Given the description of an element on the screen output the (x, y) to click on. 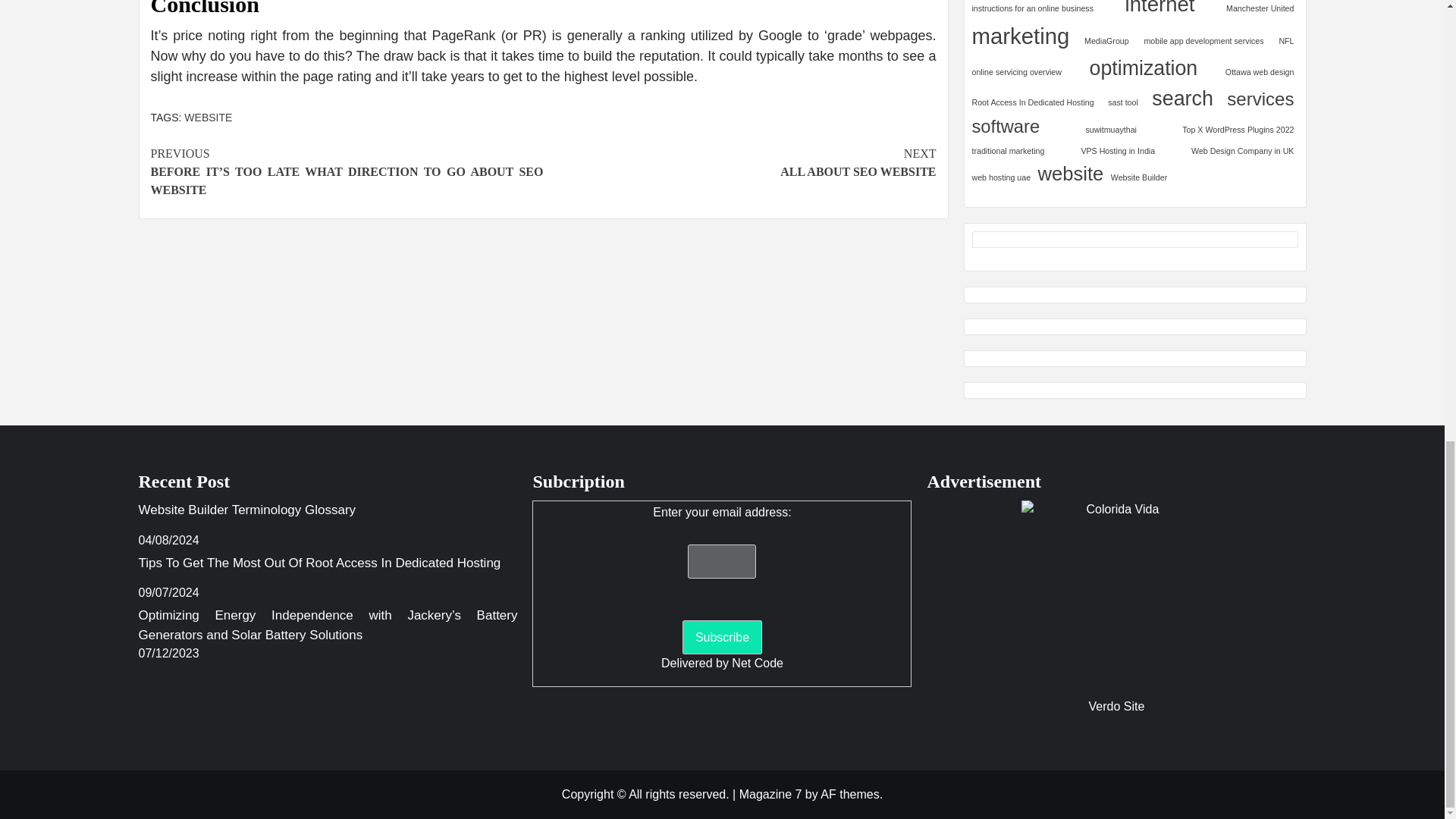
Colorida Vida (1116, 595)
Subscribe (721, 636)
WEBSITE (207, 117)
